Given the description of an element on the screen output the (x, y) to click on. 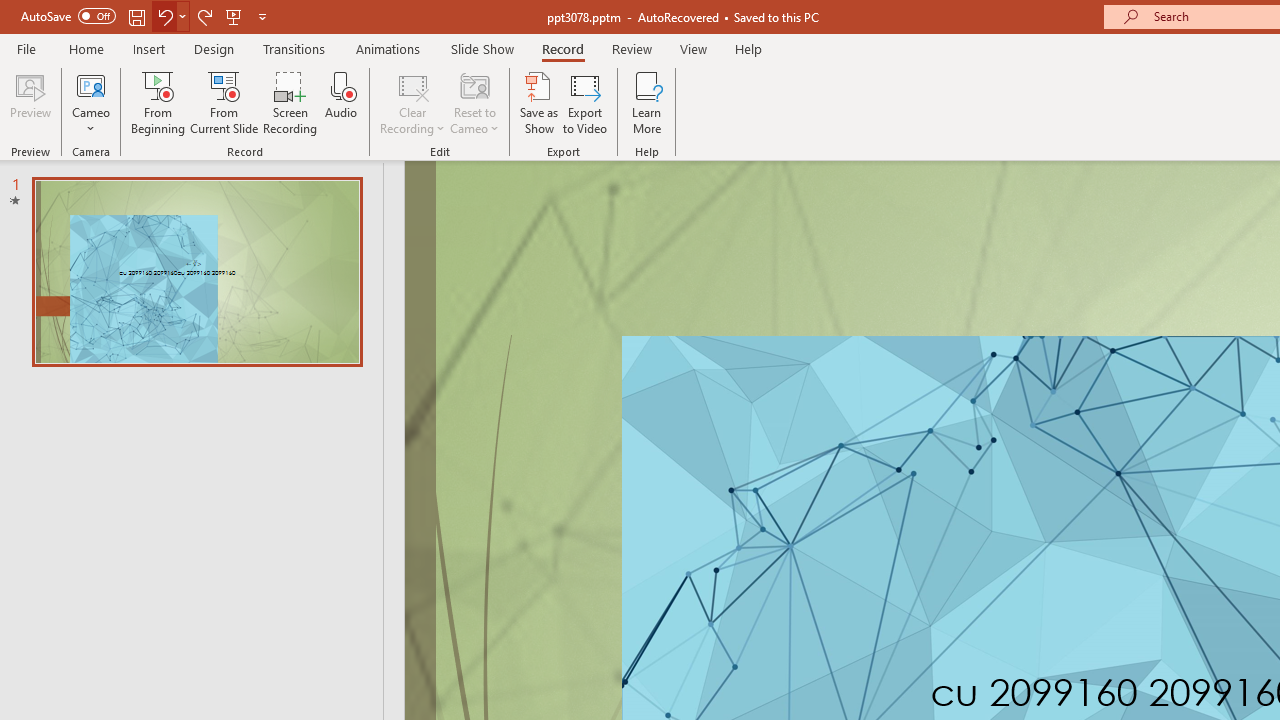
Cameo (91, 102)
